Given the description of an element on the screen output the (x, y) to click on. 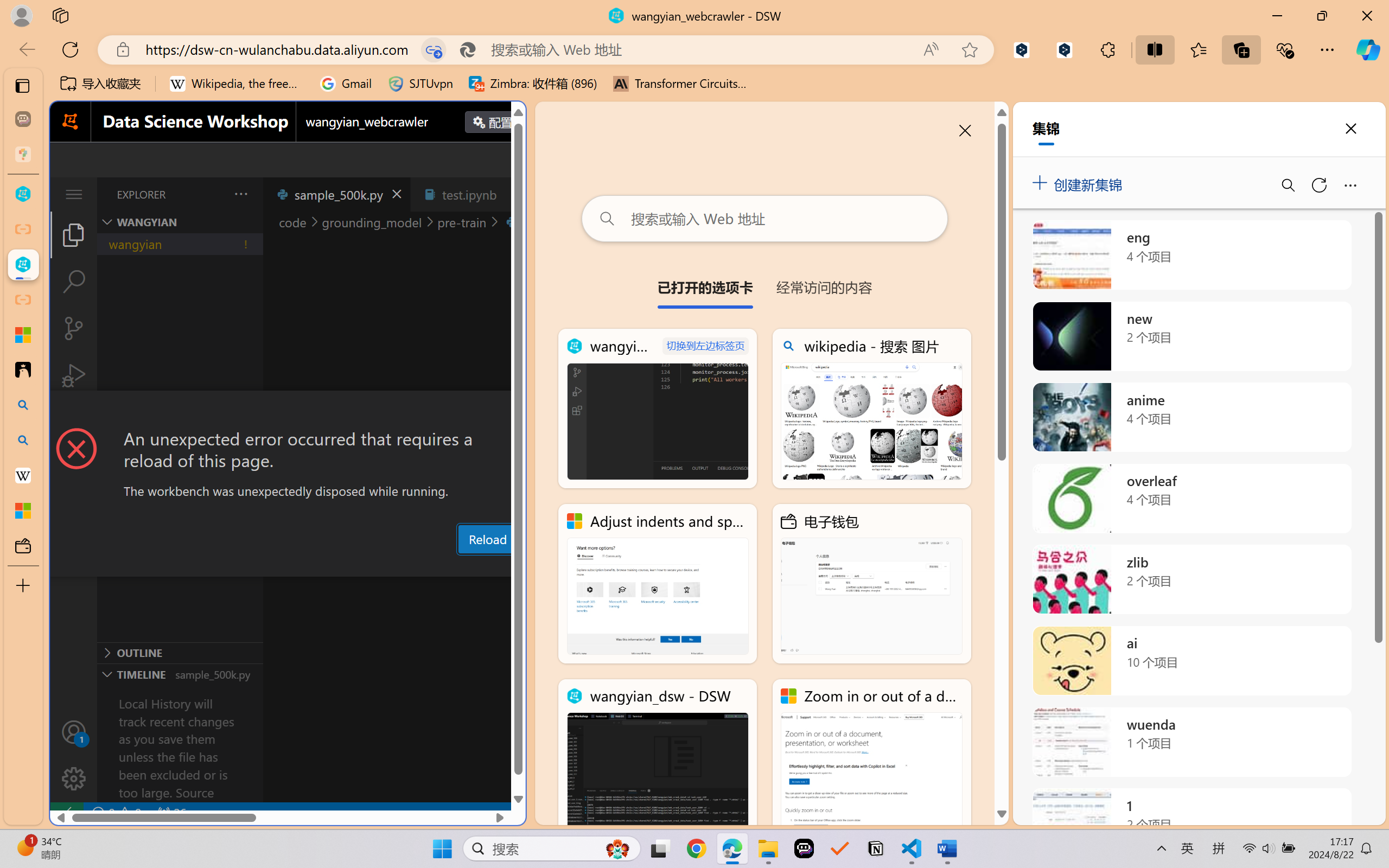
Reload (486, 538)
Application Menu (73, 194)
remote (66, 812)
Manage (73, 755)
